Given the description of an element on the screen output the (x, y) to click on. 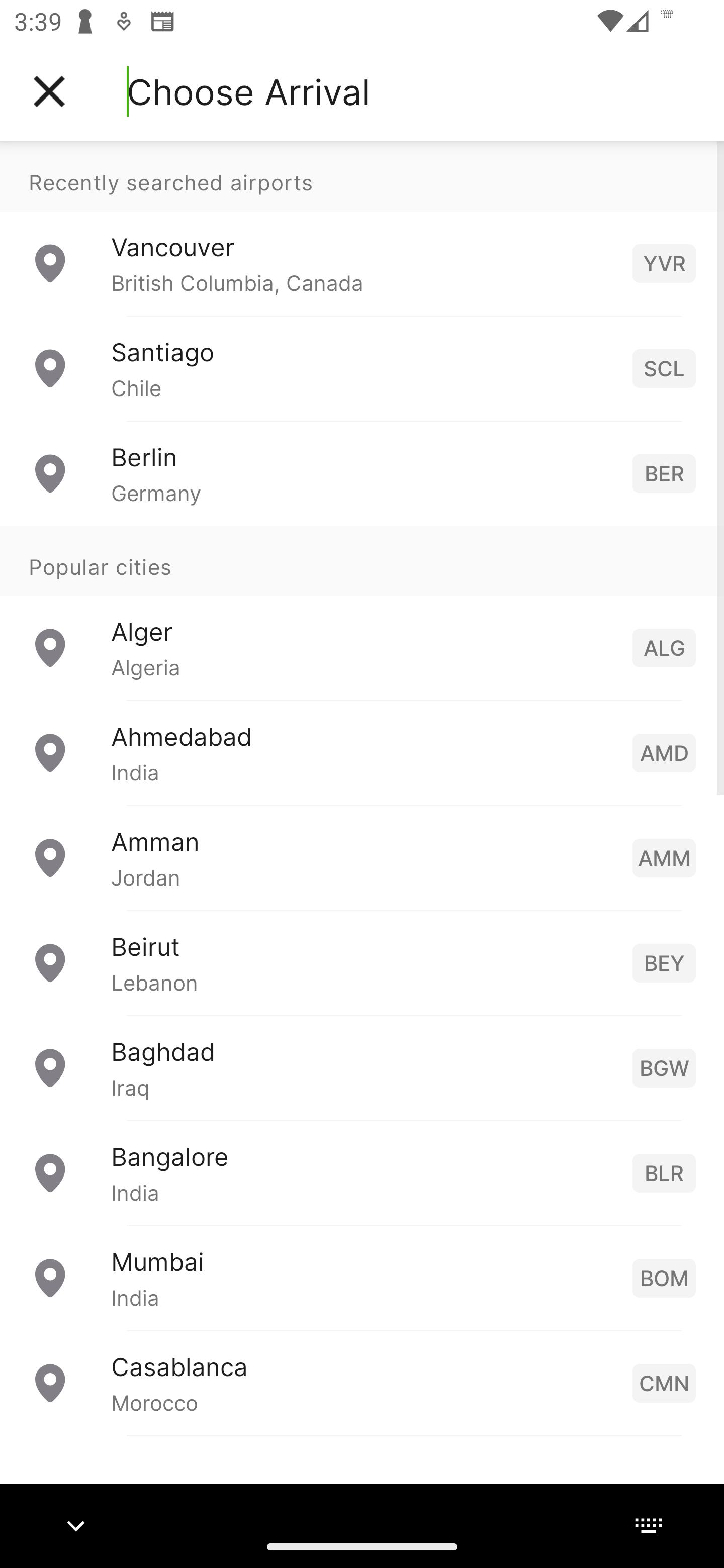
Choose Arrival (247, 91)
Recently searched airports (362, 176)
Santiago Chile SCL (362, 367)
Berlin Germany BER (362, 472)
Popular cities Alger Algeria ALG (362, 612)
Popular cities (362, 560)
Ahmedabad India AMD (362, 751)
Amman Jordan AMM (362, 856)
Beirut Lebanon BEY (362, 961)
Baghdad Iraq BGW (362, 1066)
Bangalore India BLR (362, 1171)
Mumbai India BOM (362, 1276)
Casablanca Morocco CMN (362, 1381)
